Given the description of an element on the screen output the (x, y) to click on. 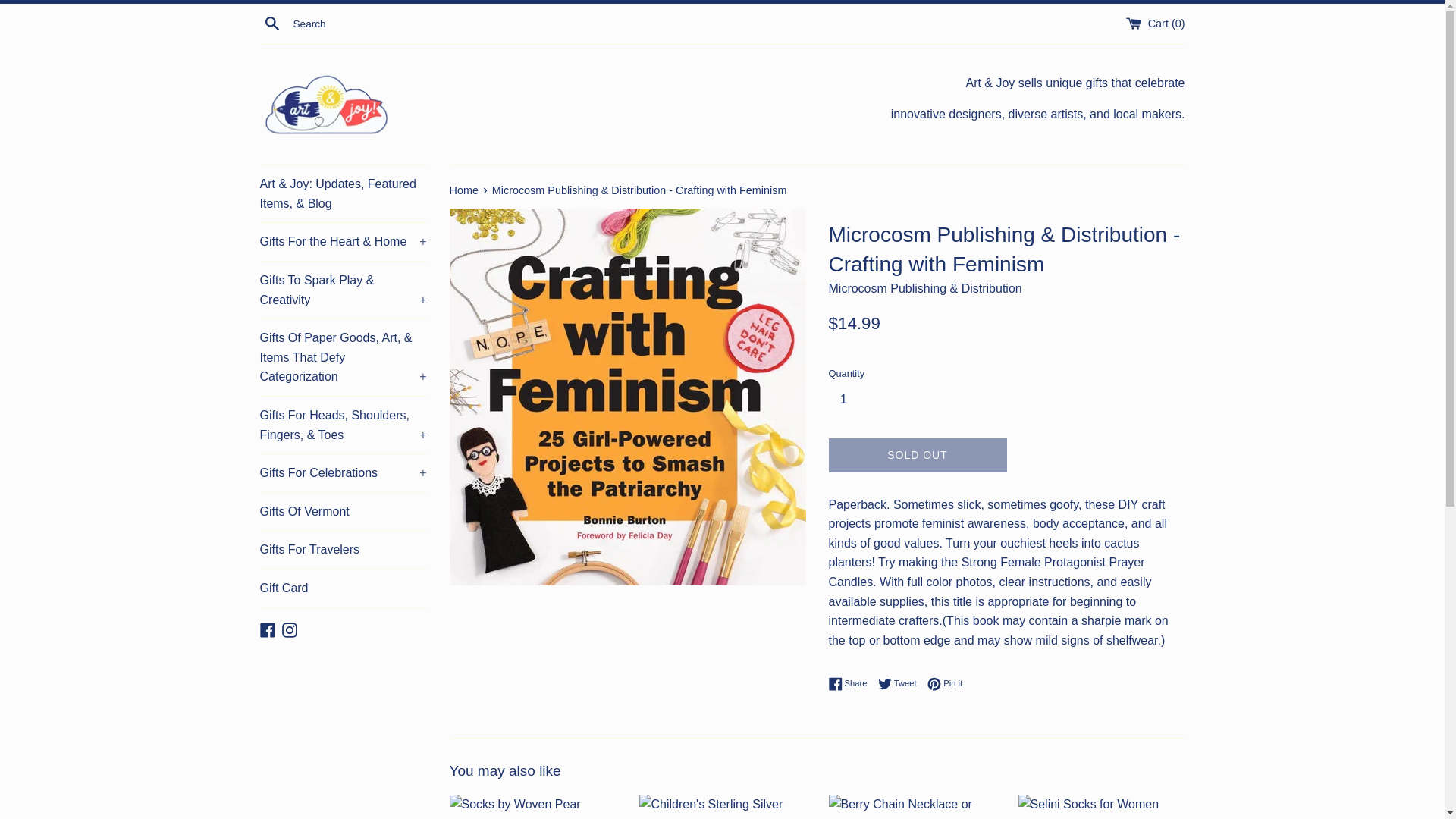
Tweet on Twitter (900, 684)
Children's Sterling Silver Stud Earrings (722, 806)
Pin on Pinterest (944, 684)
Berry Chain Necklace or Bracelet (911, 806)
Socks by Woven Pear (531, 806)
Search (271, 22)
Selini Socks for Women (1101, 806)
Share on Facebook (851, 684)
1 (848, 399)
Back to the frontpage (464, 190)
